Given the description of an element on the screen output the (x, y) to click on. 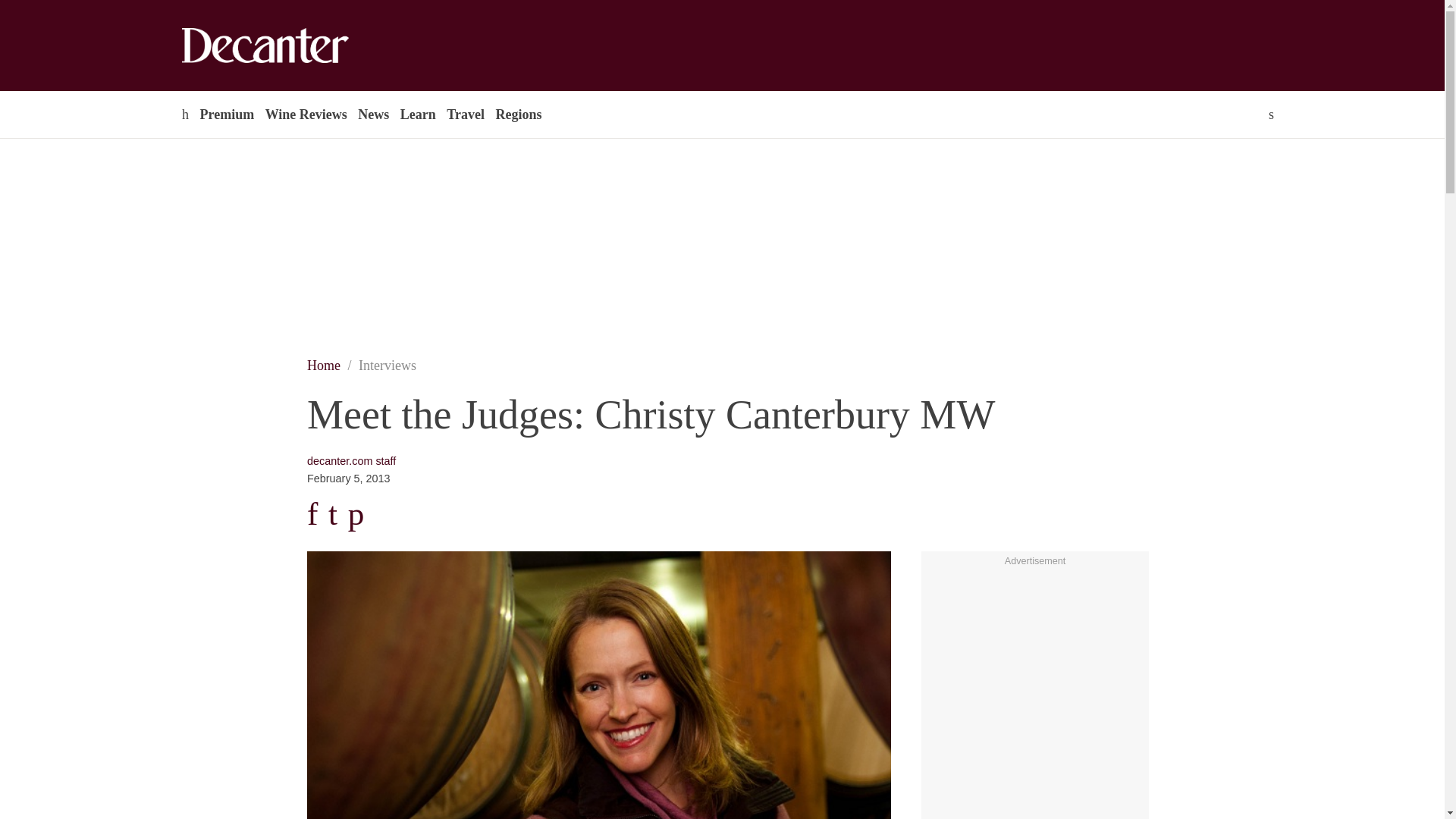
Wine Reviews (306, 114)
Premium (226, 114)
Travel (464, 114)
Decanter (297, 45)
Learn (417, 114)
